Given the description of an element on the screen output the (x, y) to click on. 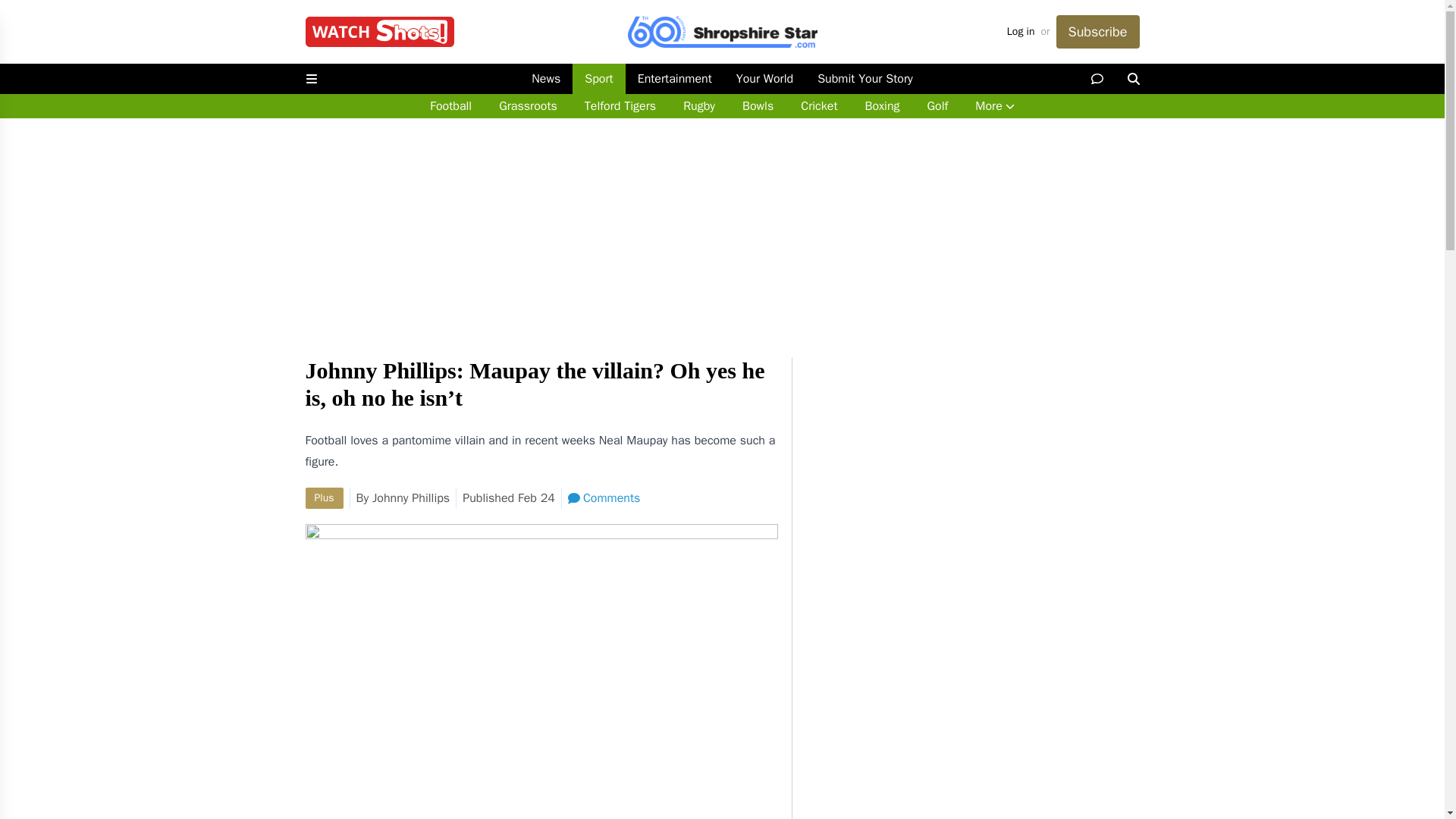
Football (450, 105)
Subscribe (1096, 31)
Rugby (698, 105)
Entertainment (674, 78)
More (994, 105)
Submit Your Story (864, 78)
Telford Tigers (620, 105)
Cricket (818, 105)
Golf (936, 105)
News (545, 78)
Bowls (758, 105)
Boxing (881, 105)
Your World (764, 78)
Log in (1021, 31)
Sport (598, 78)
